Given the description of an element on the screen output the (x, y) to click on. 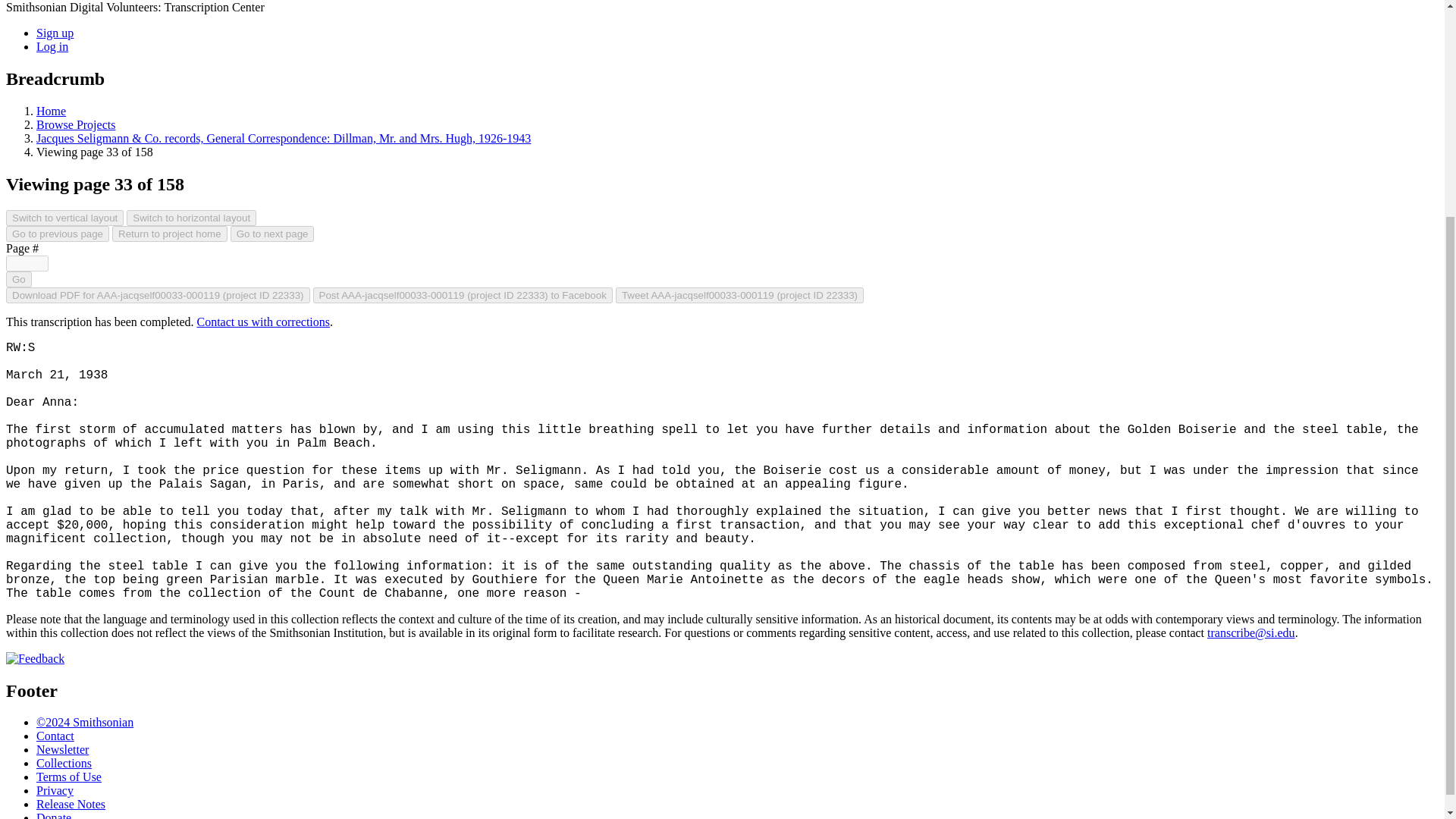
Switch to vertical layout (64, 217)
Browse Projects (75, 124)
Go to next page (272, 233)
Go to previous page (57, 233)
Contact us with corrections (263, 321)
Sign up (55, 32)
Home (50, 110)
Return to project home (169, 233)
Collections (63, 762)
Log in (52, 46)
